Given the description of an element on the screen output the (x, y) to click on. 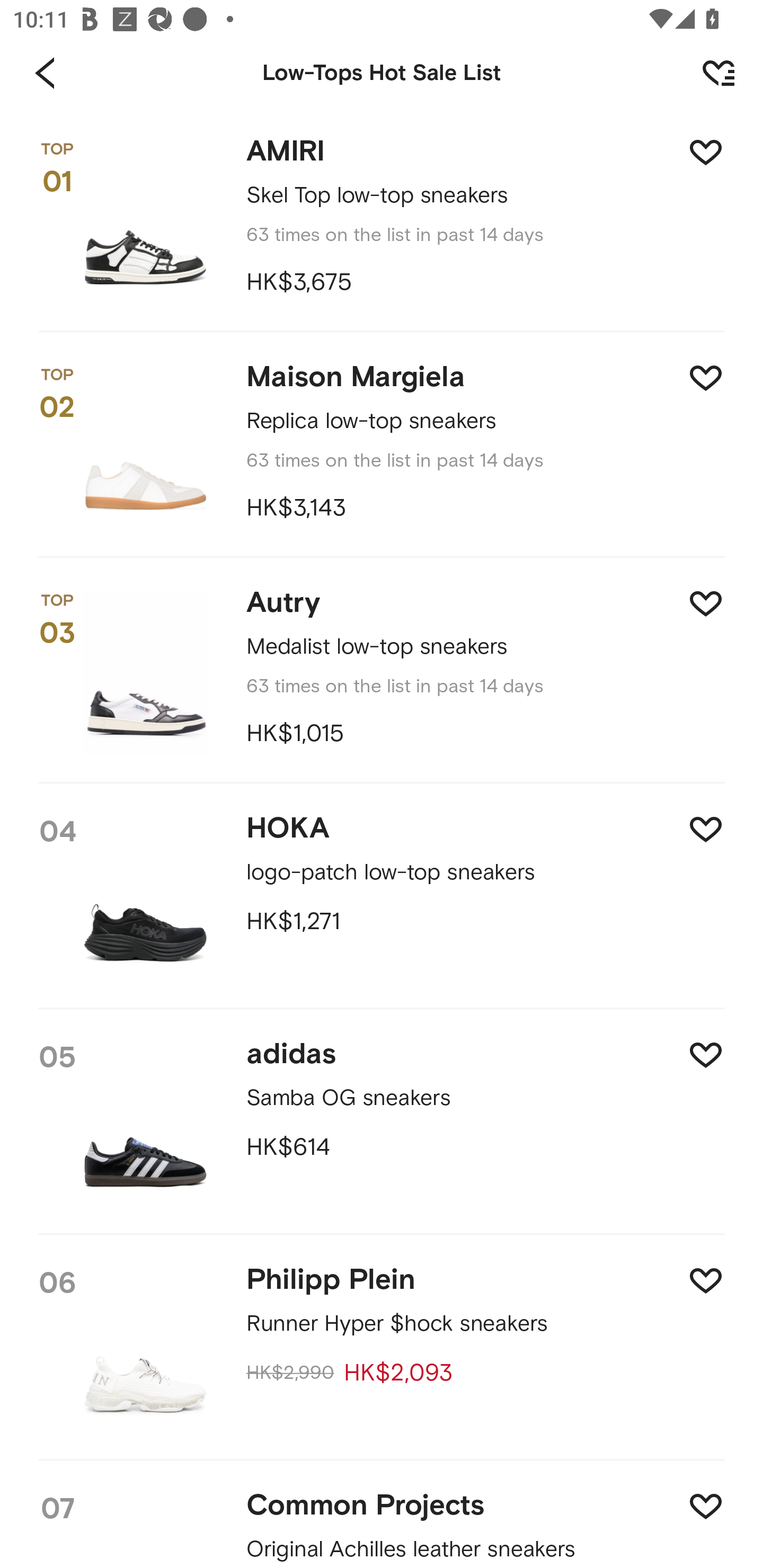
04 HOKA logo-patch low-top sneakers HK$1,271 (381, 897)
05 adidas Samba OG sneakers HK$614 (381, 1123)
